Given the description of an element on the screen output the (x, y) to click on. 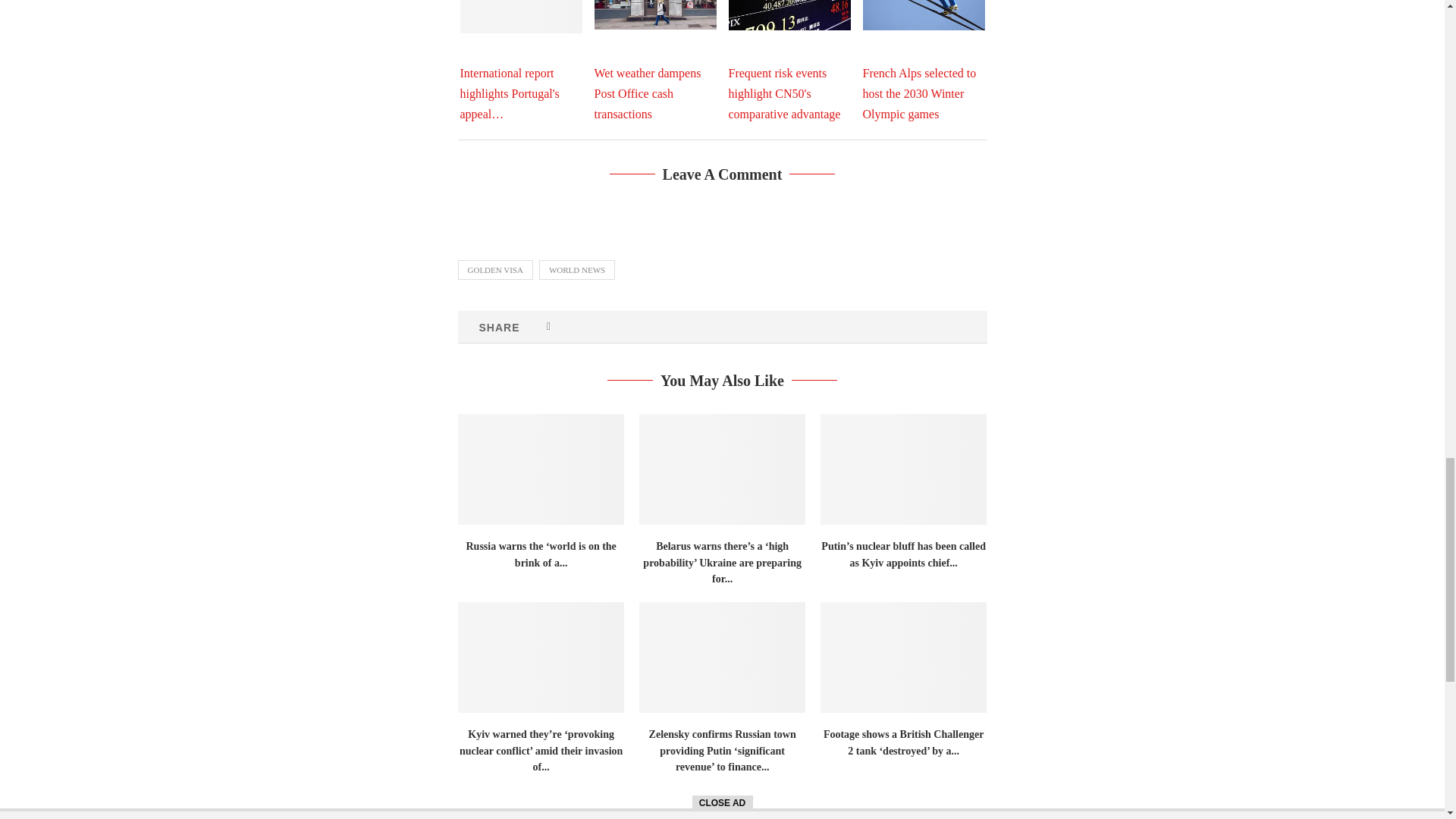
Wet weather dampens Post Office cash transactions (655, 14)
Frequent risk events highlight CN50's comparative advantage (789, 15)
French Alps selected to host the 2030 Winter Olympic games (924, 15)
